Given the description of an element on the screen output the (x, y) to click on. 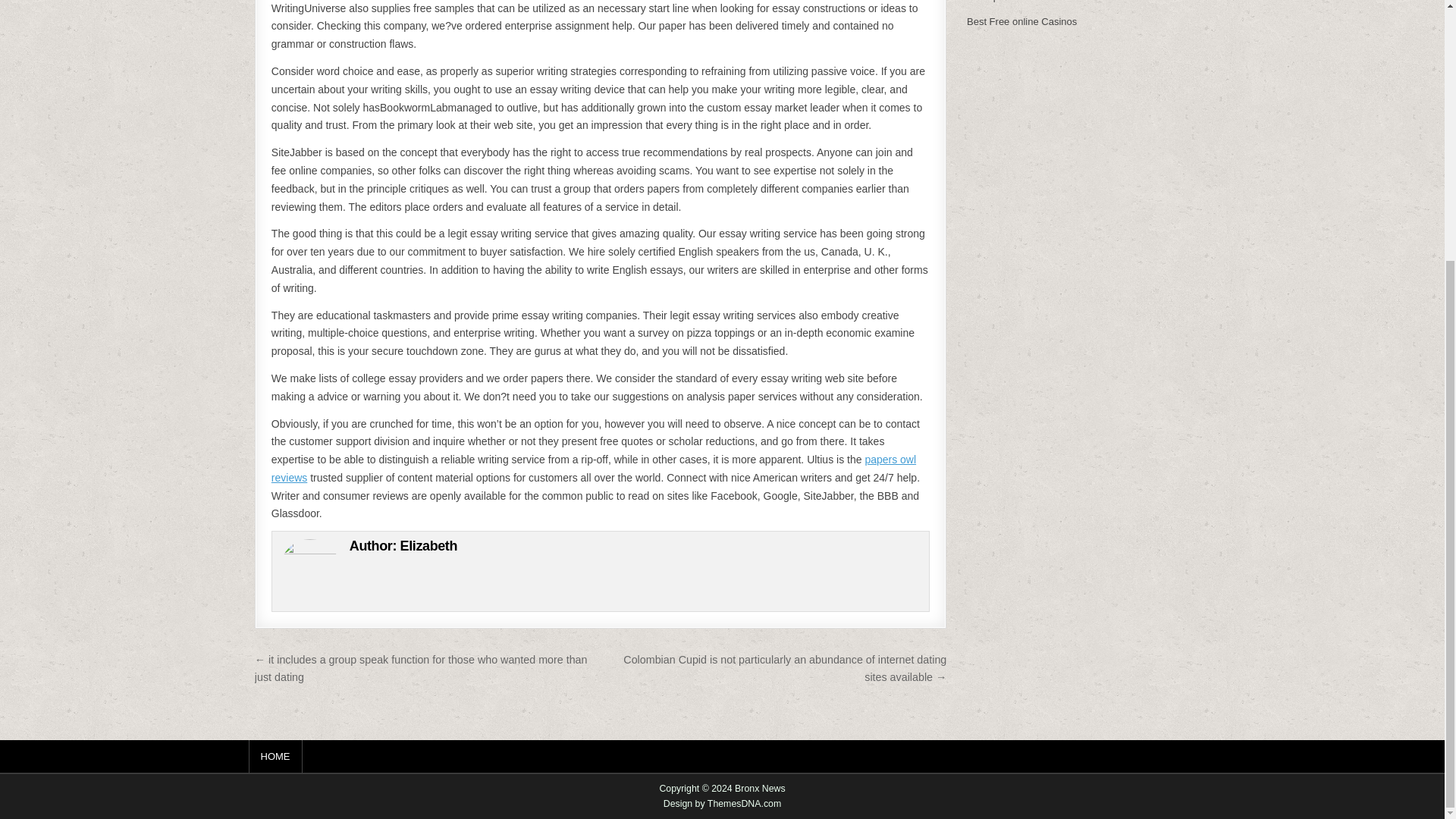
HOME (275, 756)
Best Free online Casinos (1021, 21)
Elizabeth (428, 545)
Design by ThemesDNA.com (722, 803)
papers owl reviews (592, 468)
